Given the description of an element on the screen output the (x, y) to click on. 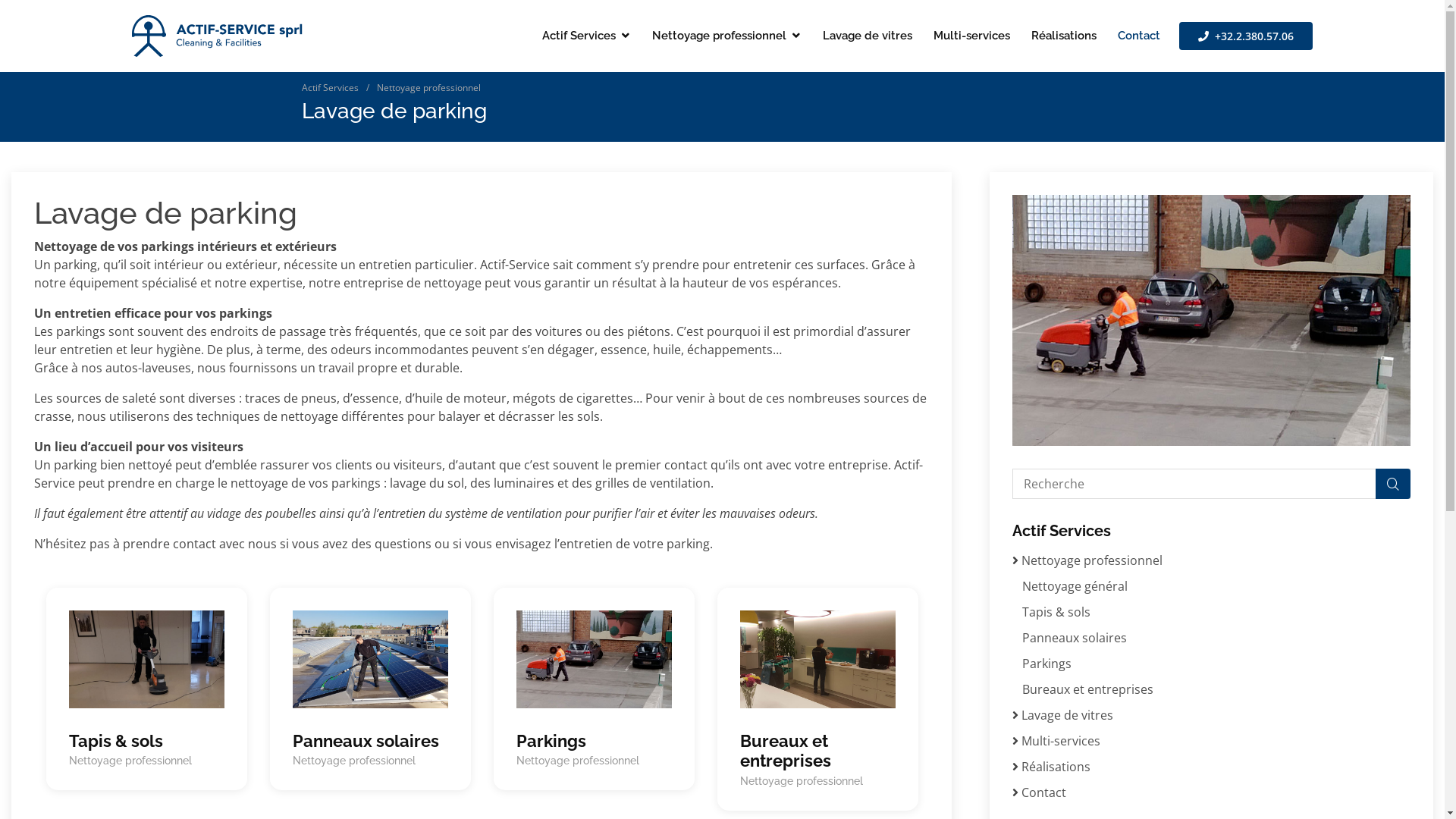
Nettoyage professionnel Element type: text (726, 35)
Actif Services Element type: text (329, 87)
Nettoyage professionnel Element type: text (428, 87)
Panneaux solaires Element type: text (1074, 637)
Multi-services Element type: text (1060, 740)
Lavage de vitres Element type: text (1067, 714)
Multi-services Element type: text (971, 35)
Actif Services Element type: text (586, 35)
Bureaux et entreprises Element type: text (1087, 688)
Lavage de vitres Element type: text (867, 35)
Panneaux solaires Element type: text (370, 740)
Tapis & sols Element type: text (146, 740)
Parkings Element type: text (593, 740)
Bureaux et entreprises Element type: text (817, 751)
Lavage de parking Element type: hover (1211, 320)
Nettoyage professionnel Element type: text (1091, 560)
Contact Element type: text (1043, 792)
Parkings Element type: text (1046, 663)
Tapis & sols Element type: text (1056, 611)
  +32.2.380.57.06 Element type: text (1245, 35)
Contact Element type: text (1138, 35)
